Given the description of an element on the screen output the (x, y) to click on. 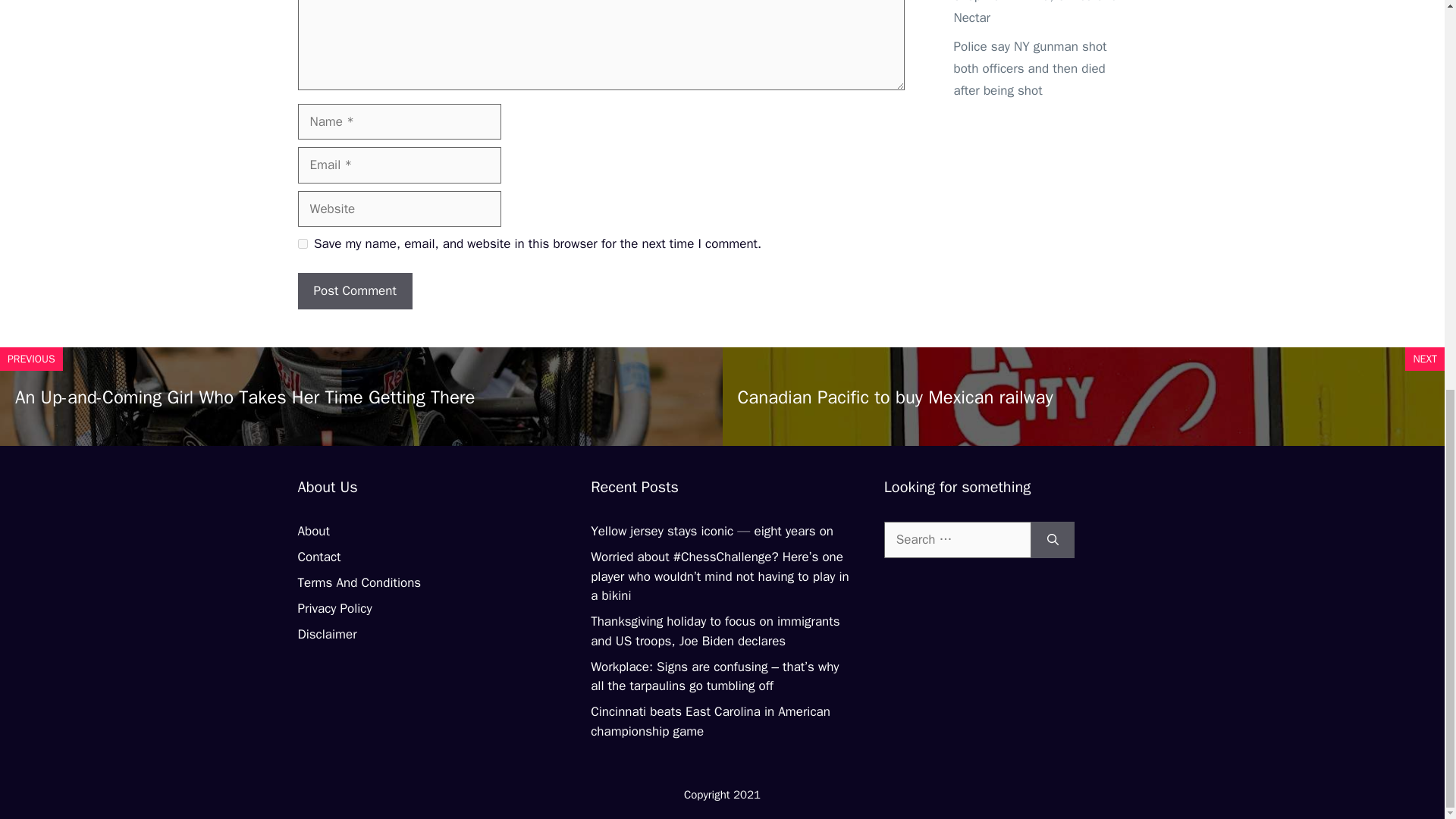
Canadian Pacific to buy Mexican railway (894, 396)
Search for: (956, 539)
Privacy Policy (334, 608)
yes (302, 243)
Contact (318, 556)
Post Comment (354, 290)
About (313, 530)
An Up-and-Coming Girl Who Takes Her Time Getting There (244, 396)
Terms And Conditions (358, 582)
Post Comment (354, 290)
